Given the description of an element on the screen output the (x, y) to click on. 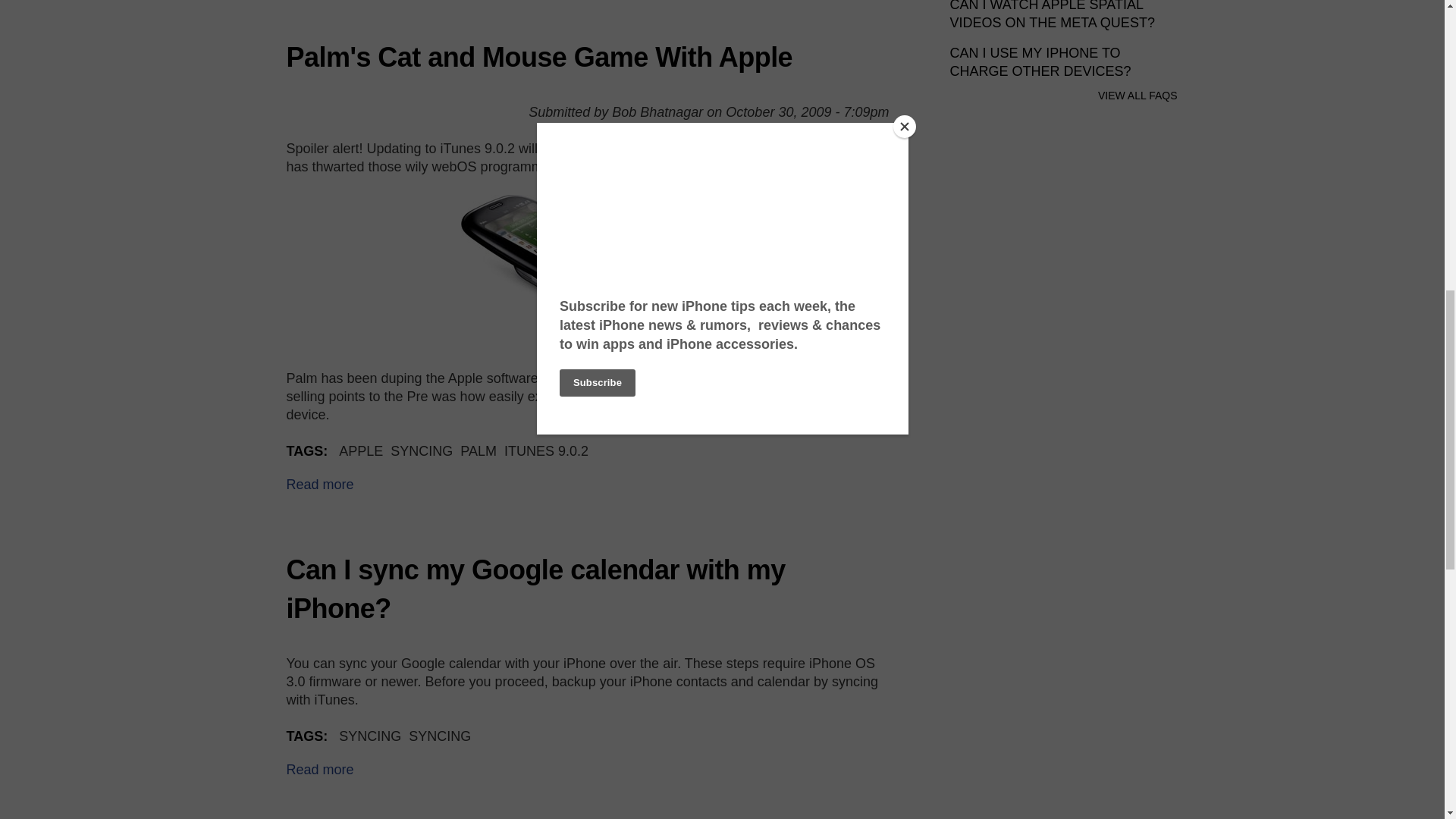
Can I sync my Google calendar with my iPhone? (319, 769)
Palm's Cat and Mouse Game With Apple (539, 56)
APPLE (360, 450)
SYNCING (370, 735)
SYNCING (319, 484)
Palm's Cat and Mouse Game With Apple (421, 450)
palm pre iphone competition (319, 484)
ITUNES 9.0.2 (587, 270)
SYNCING (545, 450)
Can I sync my Google calendar with my iPhone? (439, 735)
PALM (536, 588)
